Given the description of an element on the screen output the (x, y) to click on. 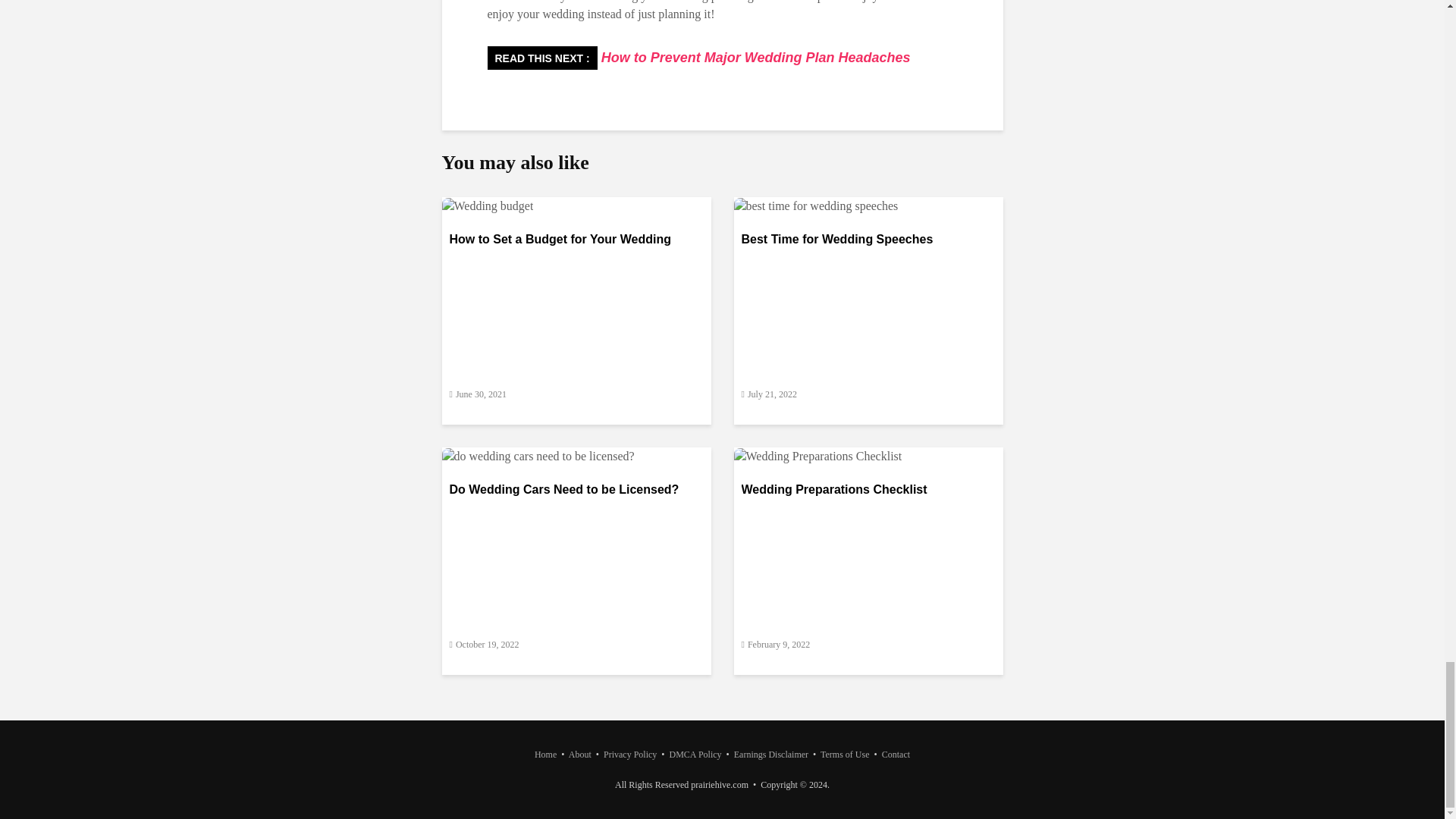
How to Set a Budget for Your Wedding (486, 205)
How to Prevent Major Wedding Plan Headaches (753, 57)
Do Wedding Cars Need to be Licensed? (537, 454)
Best Time for Wedding Speeches (815, 205)
How to Set a Budget for Your Wedding (575, 250)
Wedding Preparations Checklist (817, 454)
